Given the description of an element on the screen output the (x, y) to click on. 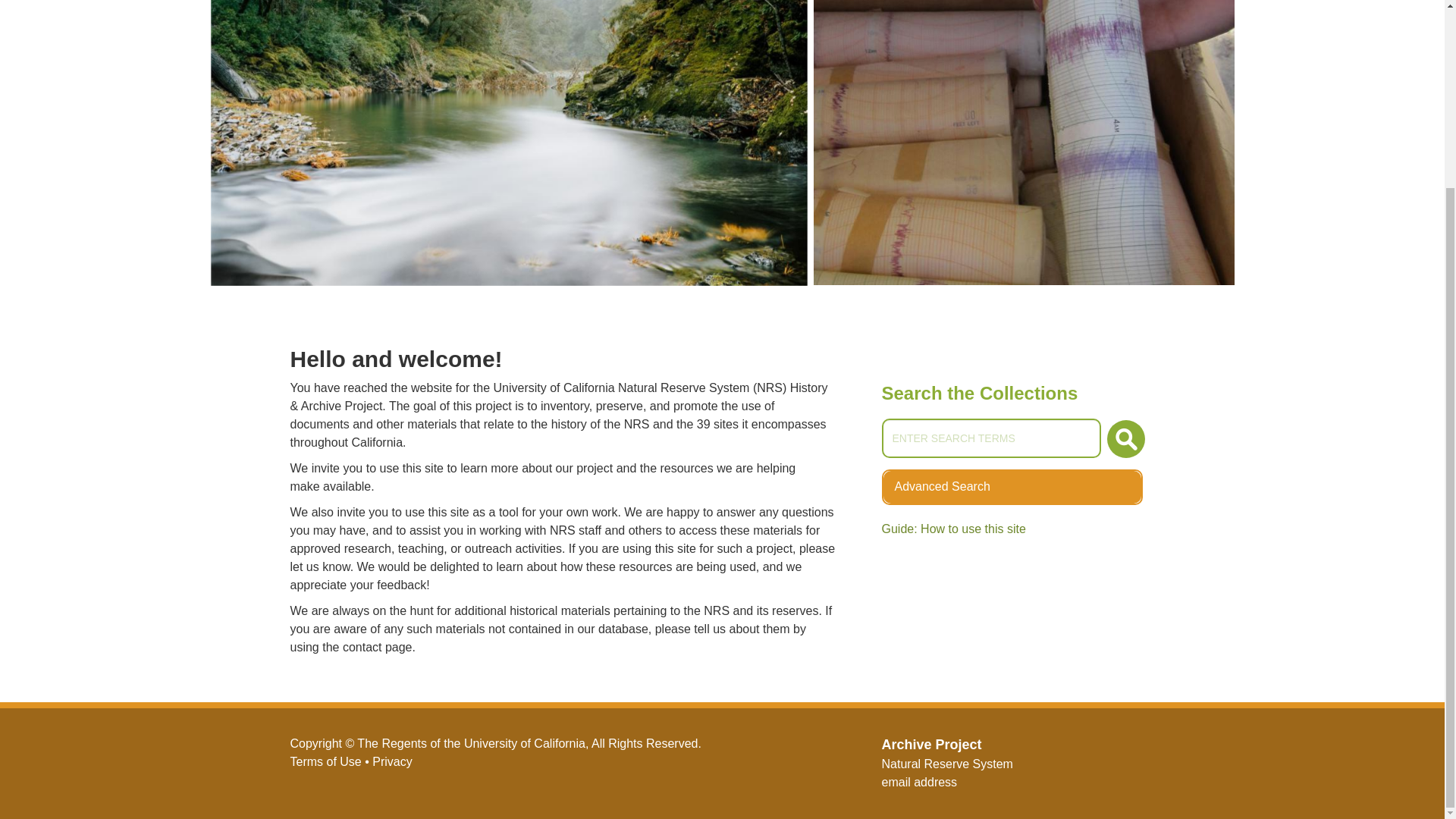
Enter the terms you wish to search for. (1011, 486)
Search (990, 437)
Guide: How to use this site (1125, 438)
